Given the description of an element on the screen output the (x, y) to click on. 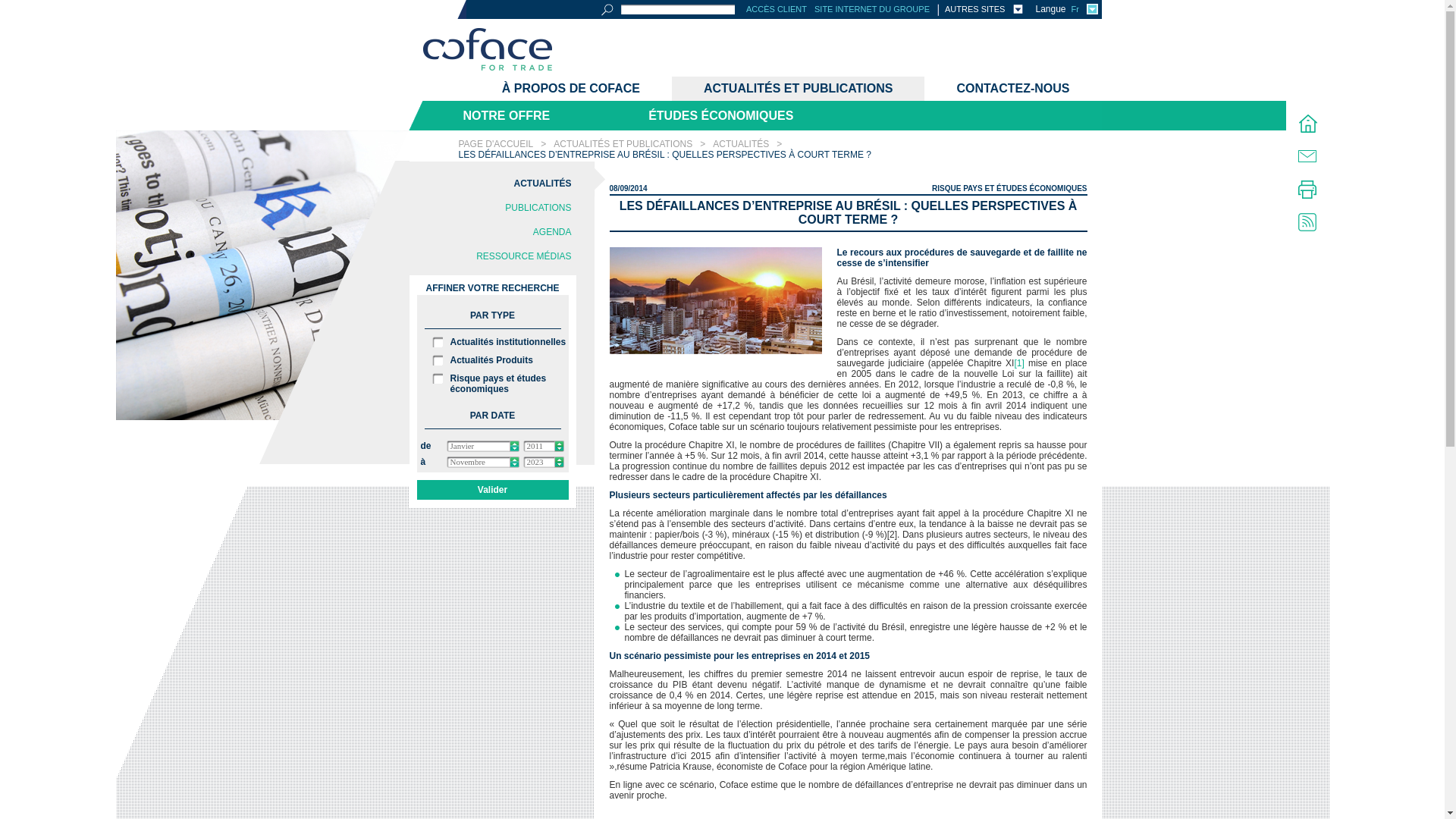
PAGE D'ACCUEIL Element type: text (495, 143)
Contactez-nous Element type: hover (1306, 155)
SITE INTERNET DU GROUPE Element type: text (871, 9)
AGENDA Element type: text (490, 231)
CONTACTEZ-NOUS Element type: text (1012, 88)
Valider Element type: text (492, 489)
PUBLICATIONS Element type: text (490, 207)
Coface Element type: hover (487, 50)
[1] Element type: text (1018, 362)
NOTRE OFFRE Element type: text (503, 115)
